Given the description of an element on the screen output the (x, y) to click on. 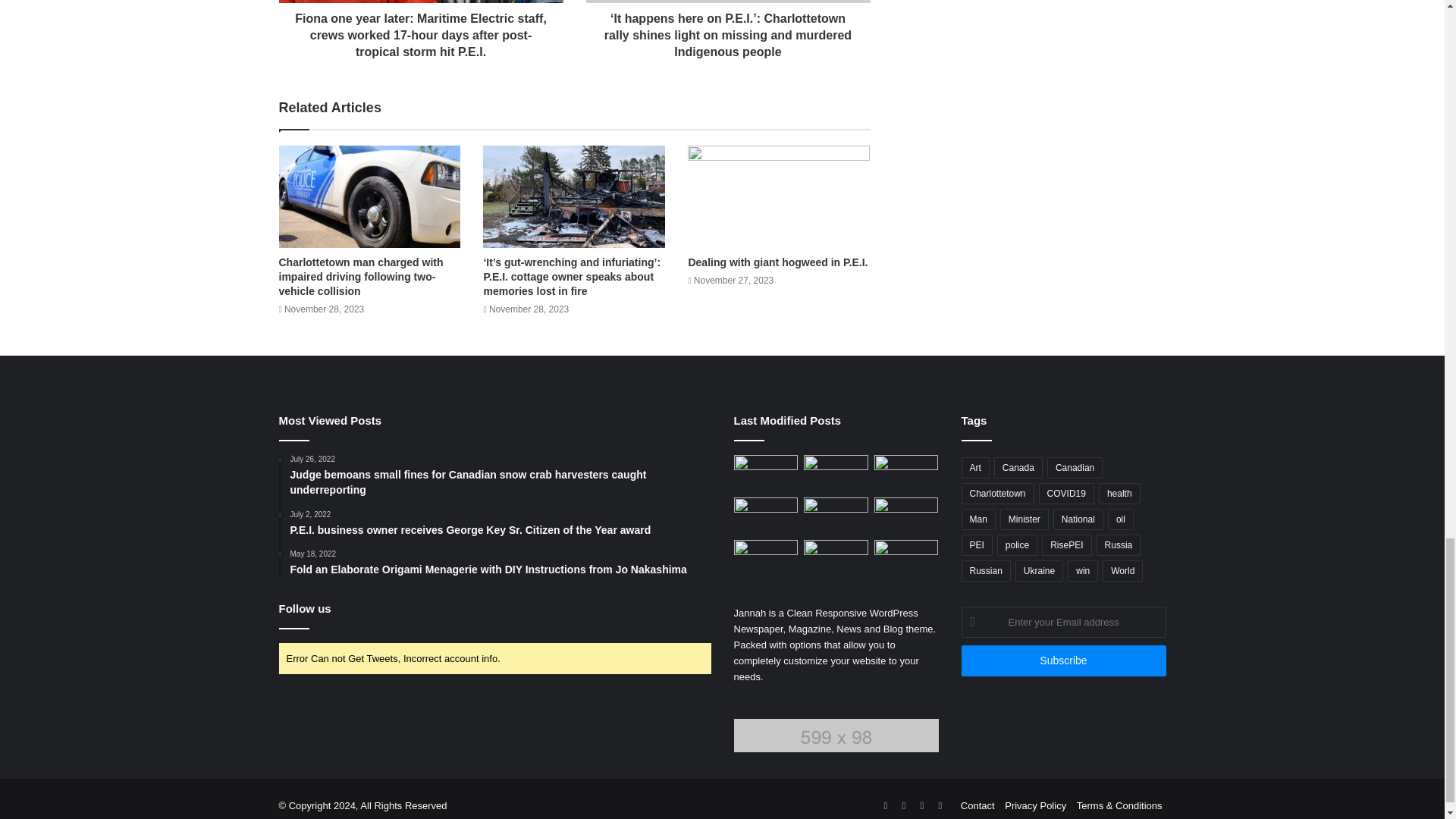
Subscribe (1063, 660)
